Given the description of an element on the screen output the (x, y) to click on. 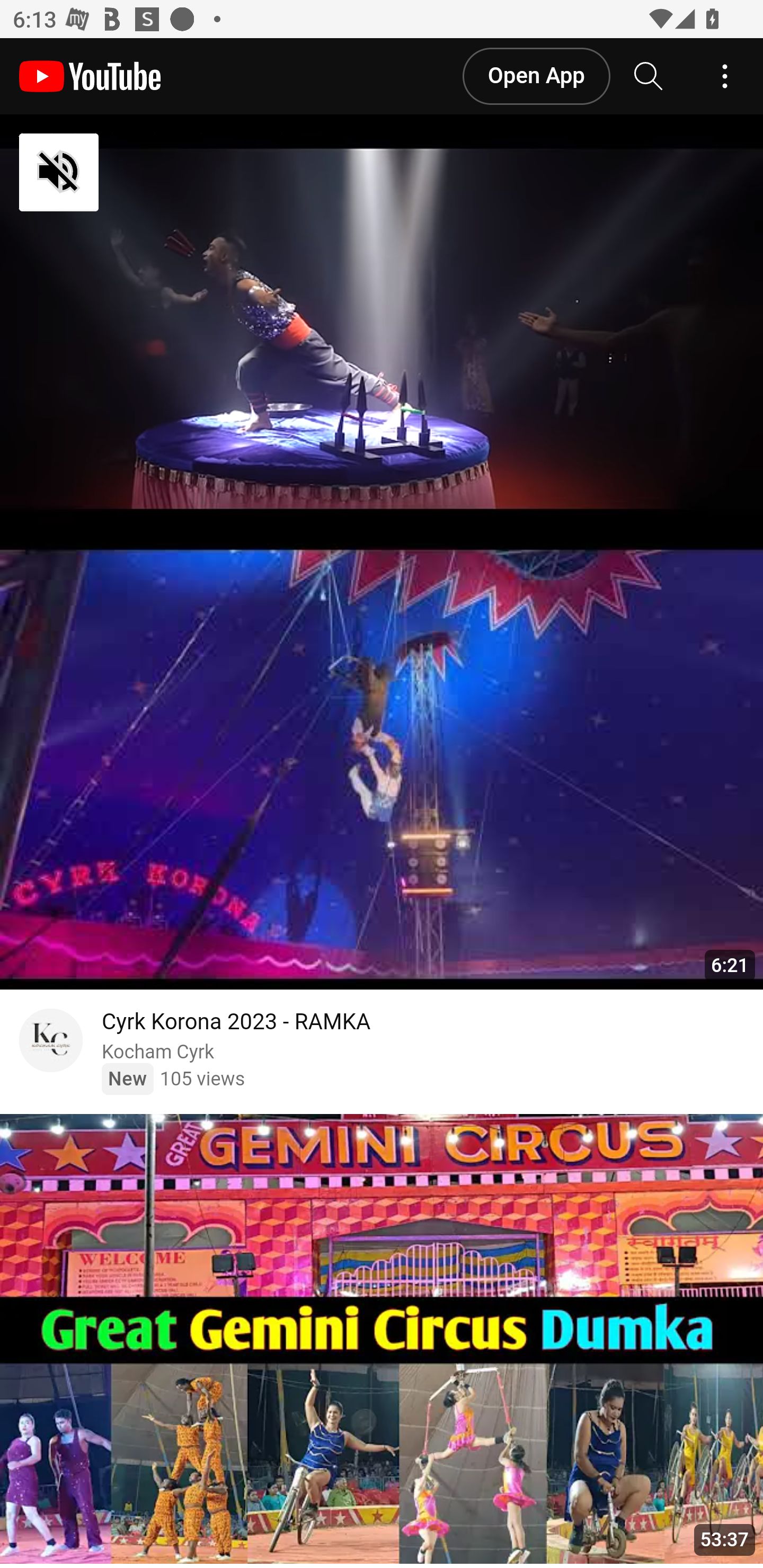
YouTube (89, 75)
Search YouTube (648, 75)
Account (724, 75)
Open App (535, 76)
YouTube Video Player TAP TO UNMUTE (381, 329)
TAP TO UNMUTE (152, 172)
Go to channel (50, 1042)
New (127, 1078)
